Given the description of an element on the screen output the (x, y) to click on. 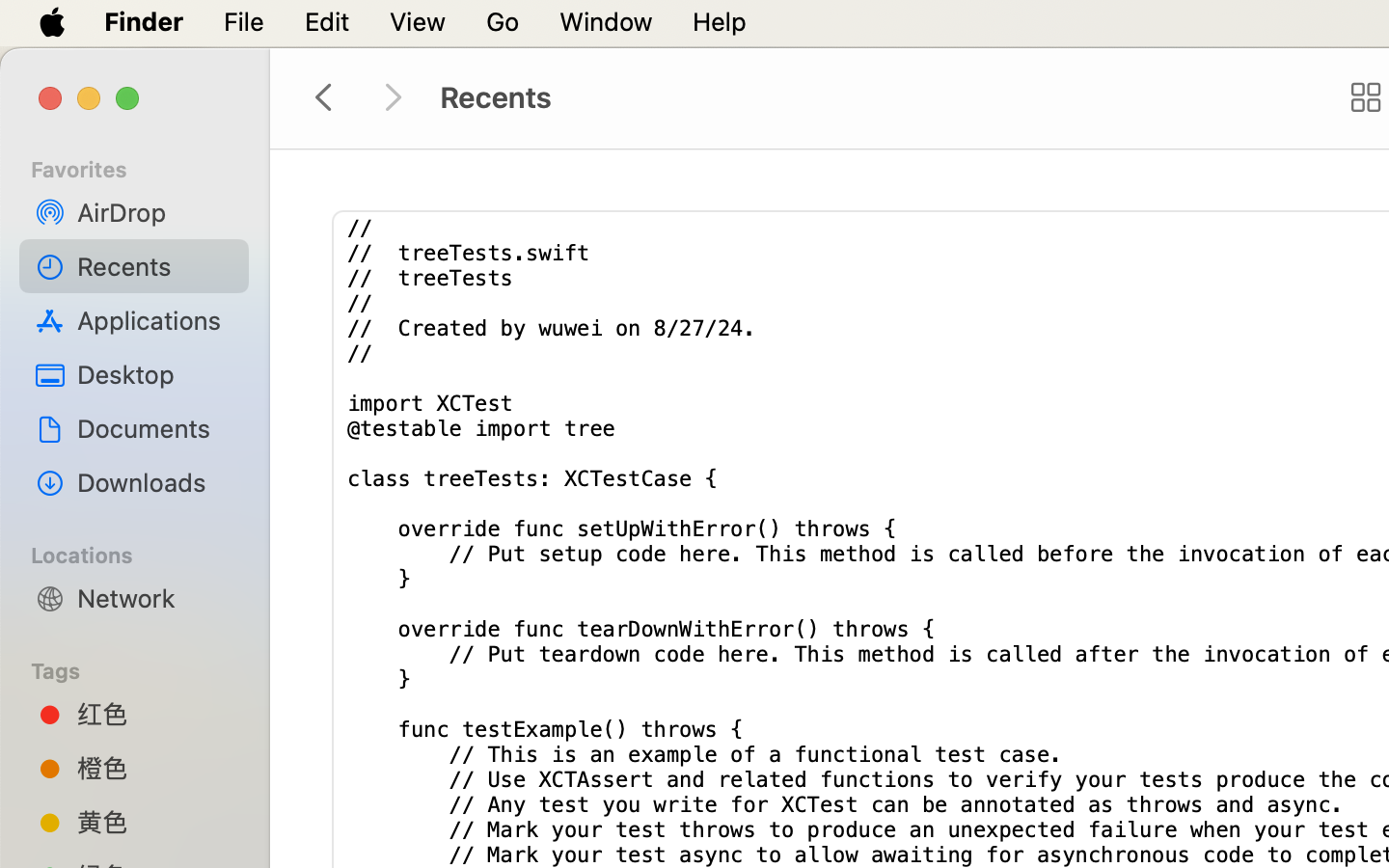
Recents Element type: AXStaticText (155, 265)
Network Element type: AXStaticText (155, 597)
AirDrop Element type: AXStaticText (155, 211)
黄色 Element type: AXStaticText (155, 821)
Desktop Element type: AXStaticText (155, 373)
